Given the description of an element on the screen output the (x, y) to click on. 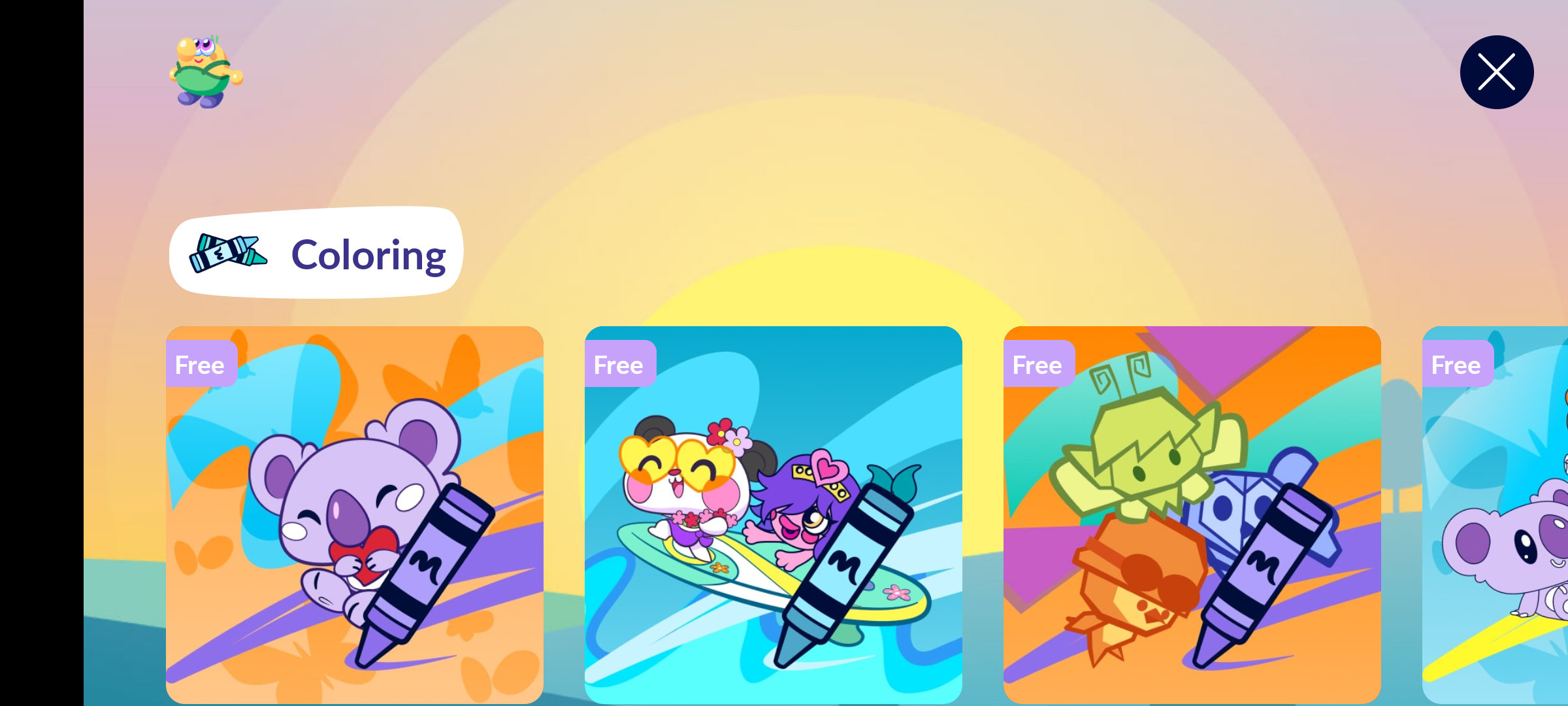
Profile icon (205, 71)
Featured Content Free (355, 514)
Featured Content Free (773, 514)
Featured Content Free (1192, 514)
